Given the description of an element on the screen output the (x, y) to click on. 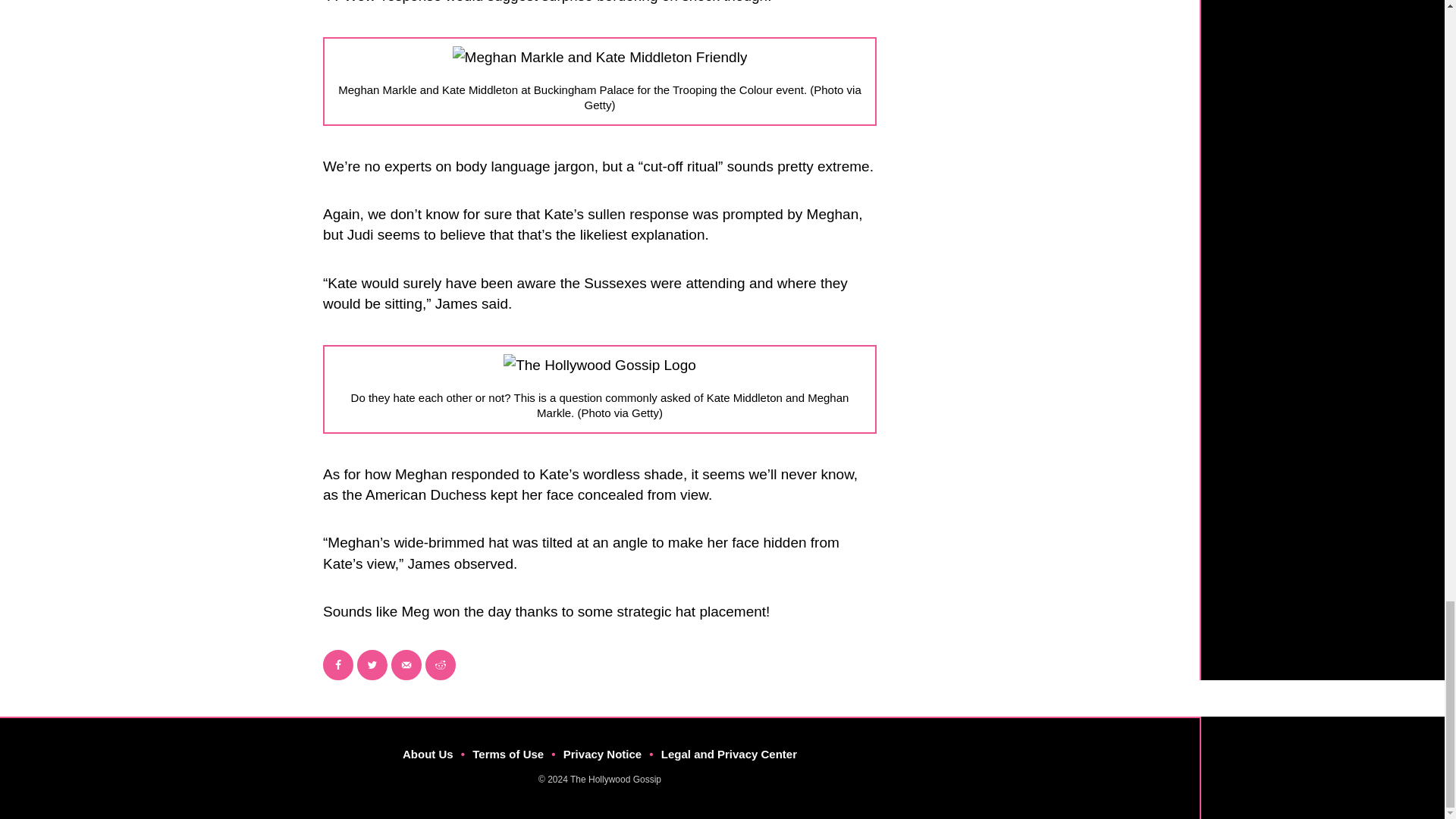
Share on Reddit (440, 665)
Share on Facebook (338, 665)
Send over email (406, 665)
Share on Twitter (371, 665)
